Given the description of an element on the screen output the (x, y) to click on. 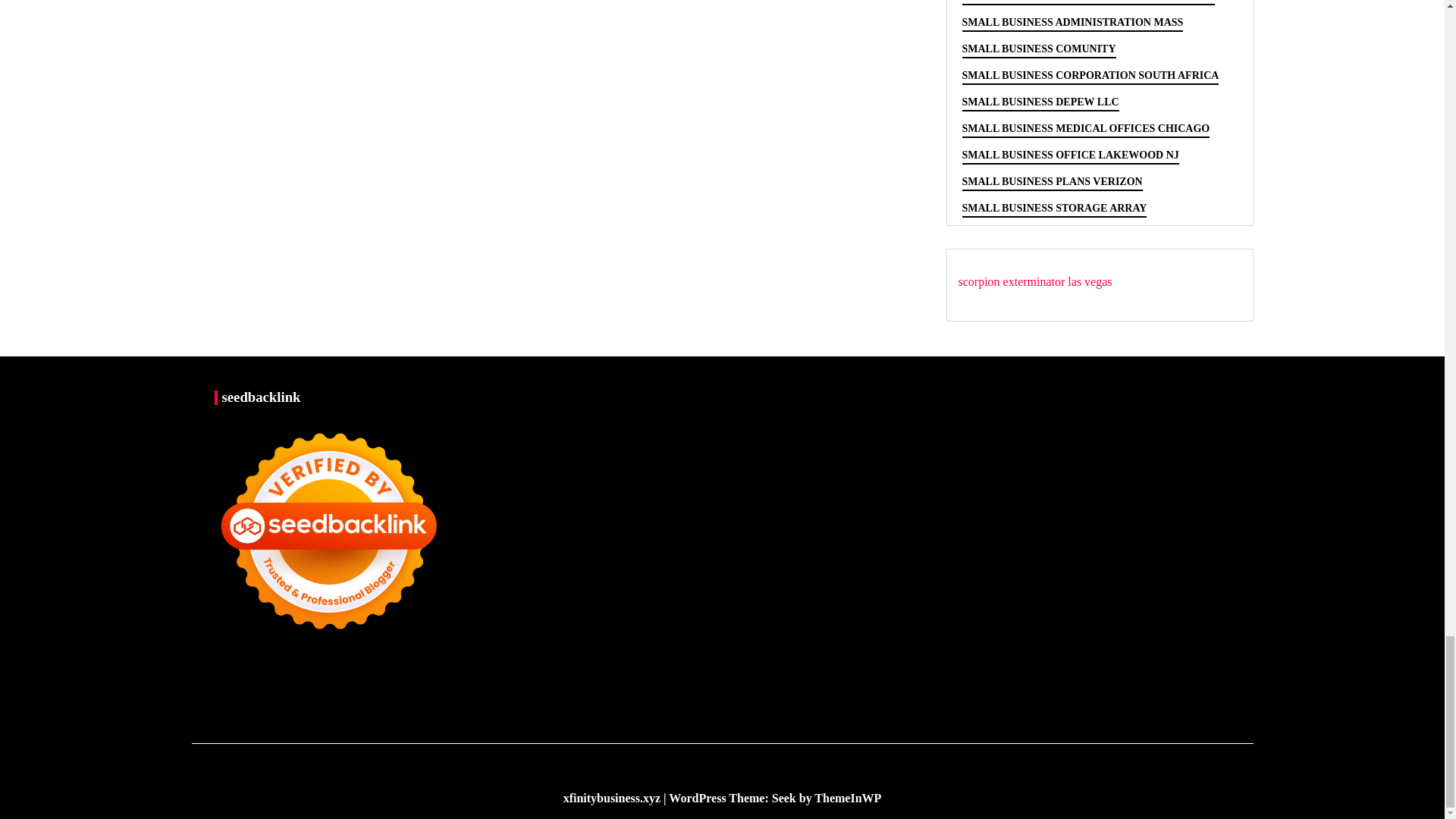
Seedbacklink (328, 530)
